Given the description of an element on the screen output the (x, y) to click on. 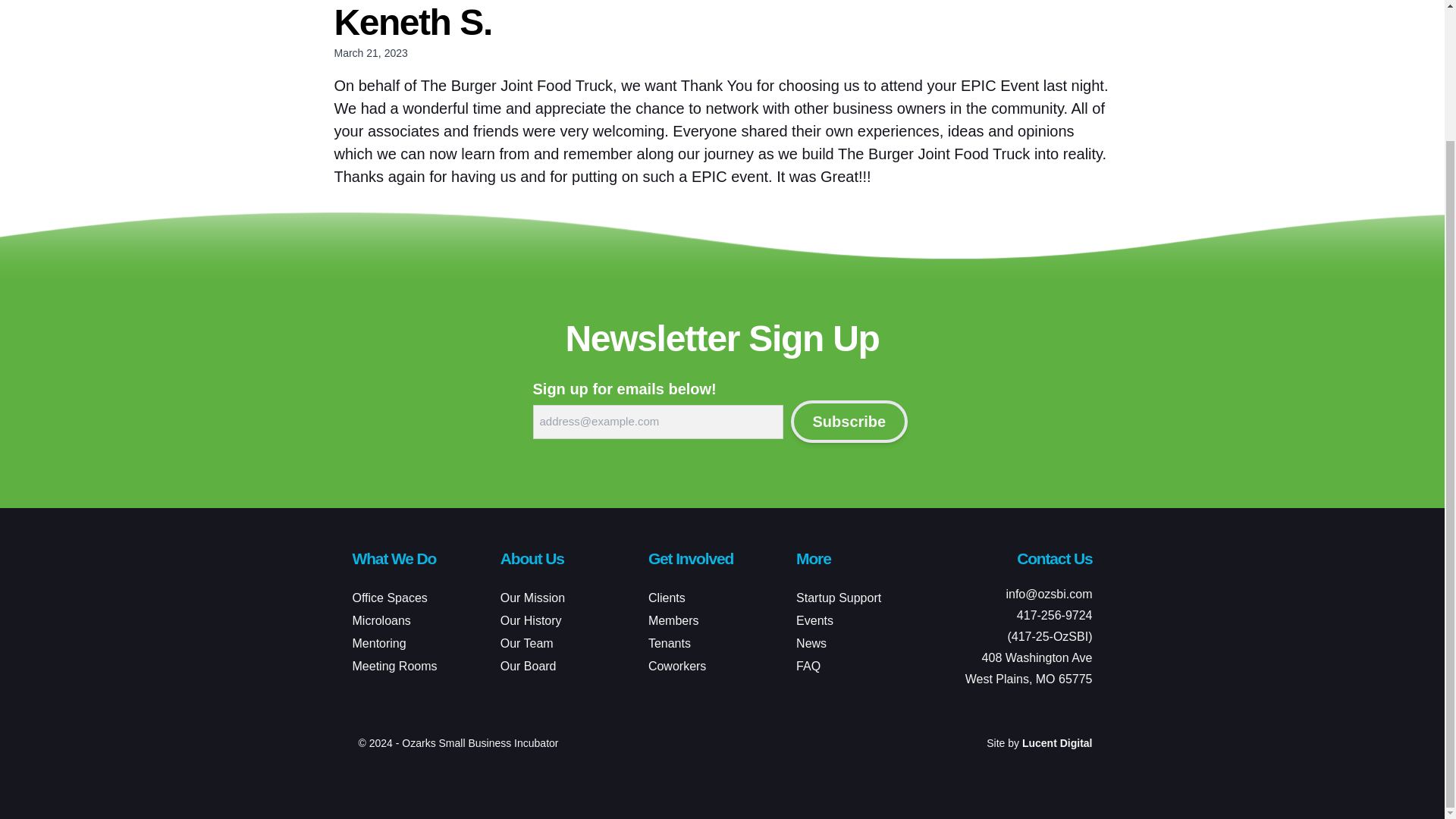
Mentoring (379, 643)
Office Spaces (389, 597)
Microloans (381, 620)
Subscribe (848, 421)
Keneth S. (412, 22)
Meeting Rooms (394, 666)
Subscribe (848, 421)
